Given the description of an element on the screen output the (x, y) to click on. 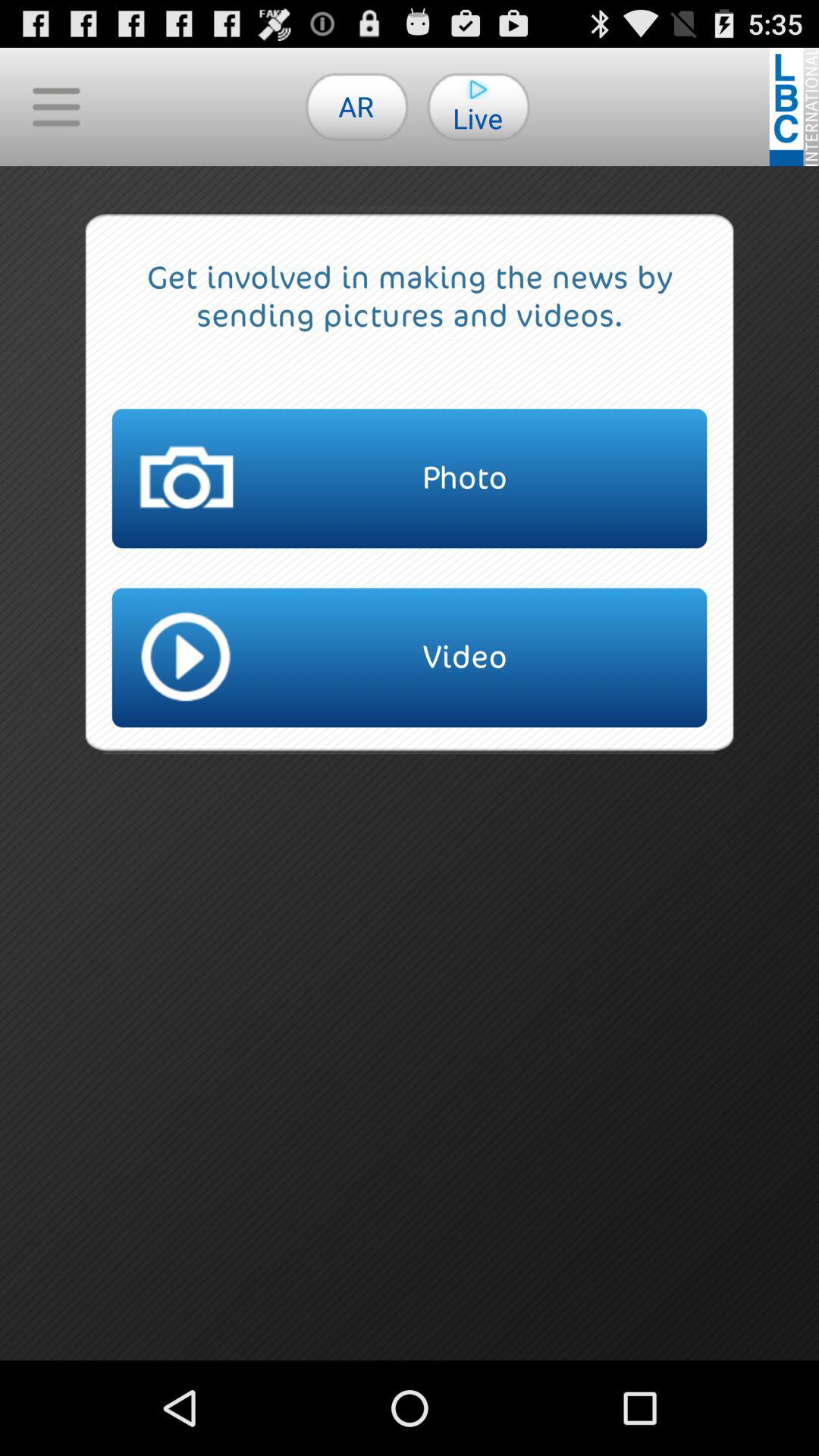
launch the item above the video button (409, 478)
